Given the description of an element on the screen output the (x, y) to click on. 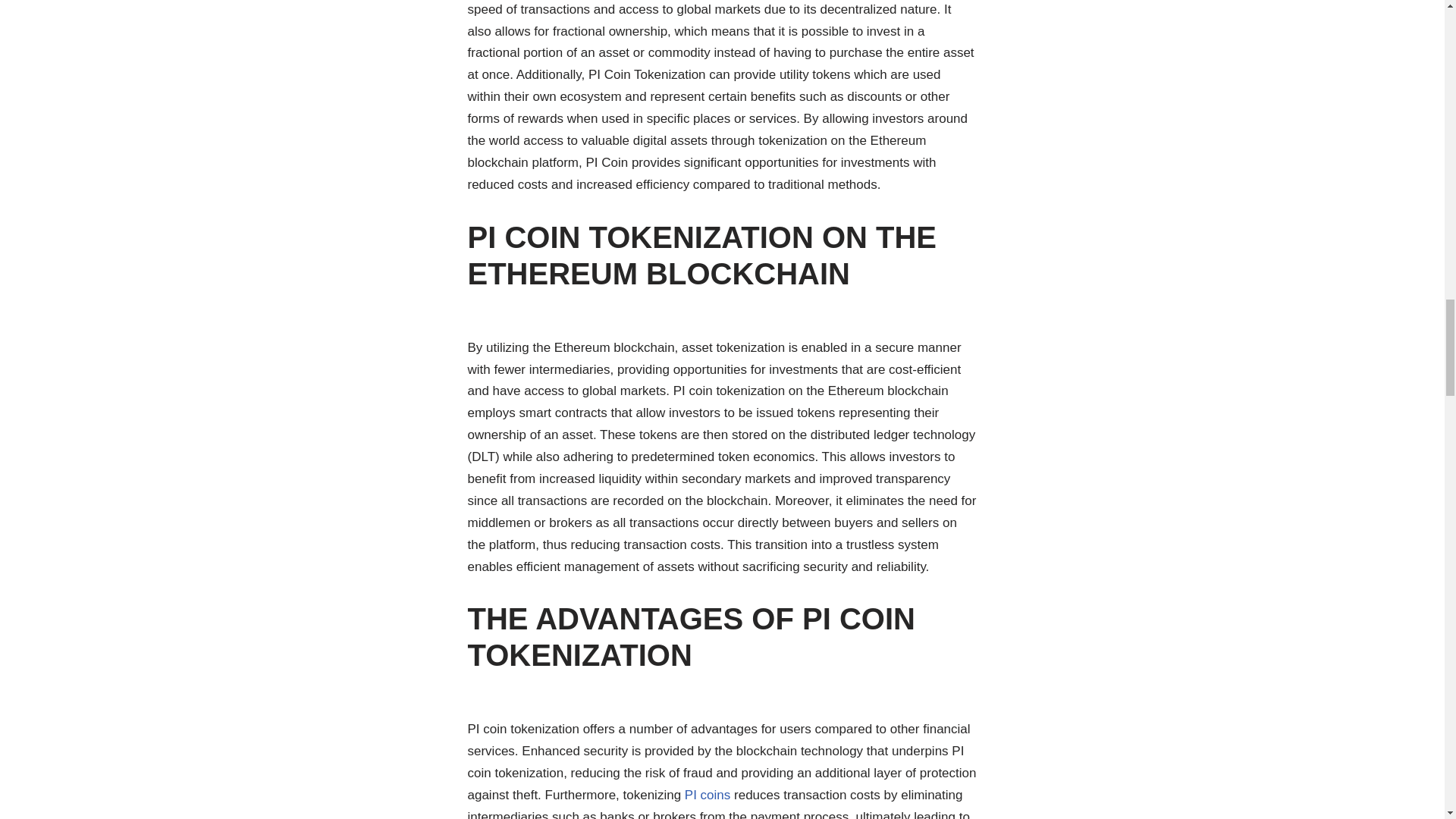
PI coins (707, 794)
PI coins (707, 794)
